Given the description of an element on the screen output the (x, y) to click on. 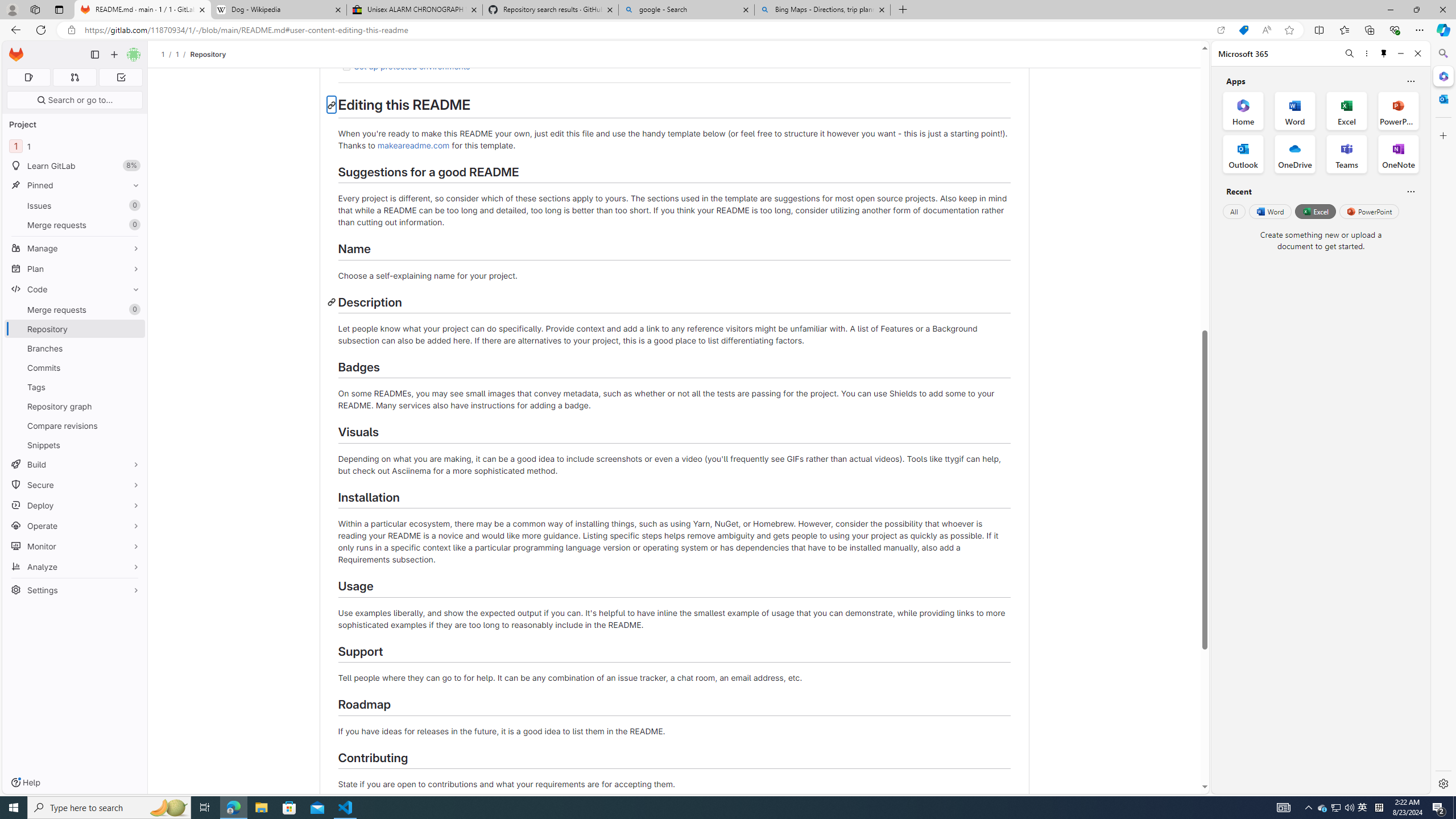
Operate (74, 525)
PowerPoint Office App (1398, 110)
Compare revisions (74, 425)
Issues 0 (74, 205)
Dog - Wikipedia (277, 9)
Set up protected environments (673, 66)
Excel Office App (1346, 110)
Secure (74, 484)
Code (74, 289)
